Given the description of an element on the screen output the (x, y) to click on. 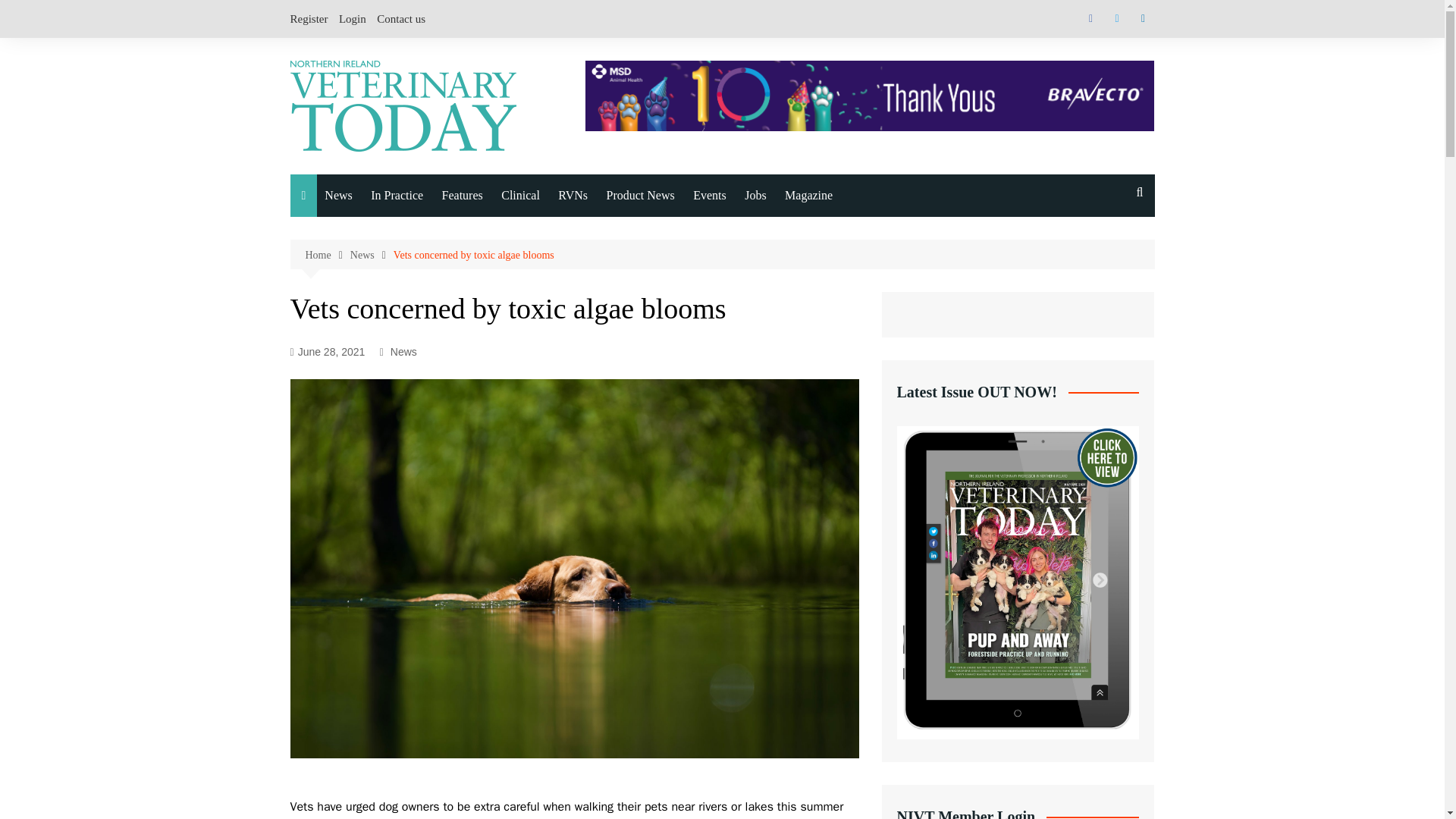
CPD (517, 296)
Features (461, 195)
Facebook (1091, 18)
Exotics (400, 296)
News (371, 255)
Twitter (1116, 18)
Home (326, 255)
Special Reports (517, 264)
Product News (640, 195)
Magazine (808, 195)
Equine (400, 264)
Vets concerned by toxic algae blooms (473, 255)
Linkedin (1142, 18)
News (338, 195)
Marketing Opportunities (860, 459)
